Given the description of an element on the screen output the (x, y) to click on. 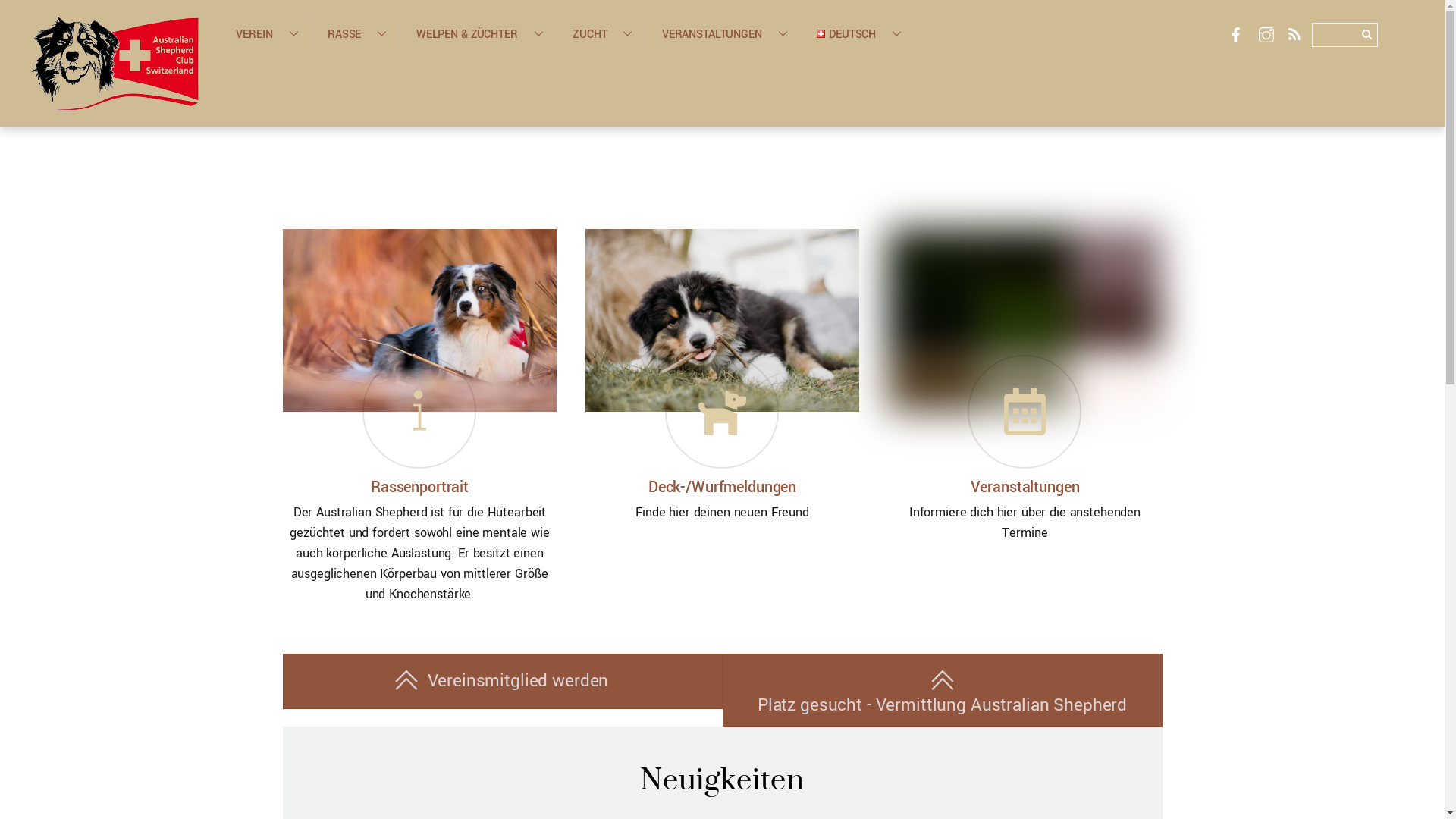
Rassenportrait Element type: hover (419, 320)
RSS Element type: text (1294, 35)
RASSE Element type: text (354, 32)
Australian Shepherd Club Switzerland Element type: hover (113, 99)
VERANSTALTUNGEN Element type: text (721, 32)
ZUCHT Element type: text (600, 32)
Australian Shepherd Club Schweiz Element type: hover (113, 62)
DEUTSCH Element type: text (857, 32)
Platz gesucht - Vermittlung Australian Shepherd Element type: text (941, 690)
Vereinsmitglied werden Element type: text (501, 681)
Veranstaltungen Element type: text (1024, 487)
ASCS-Veranstaltungen Element type: hover (1025, 320)
Rassenportrait Element type: text (419, 487)
VEREIN Element type: text (264, 32)
Search Element type: hover (1344, 34)
Deck-/Wurfmeldungen Element type: text (722, 487)
Deck-/Wurfmeldungen Element type: hover (722, 320)
